Given the description of an element on the screen output the (x, y) to click on. 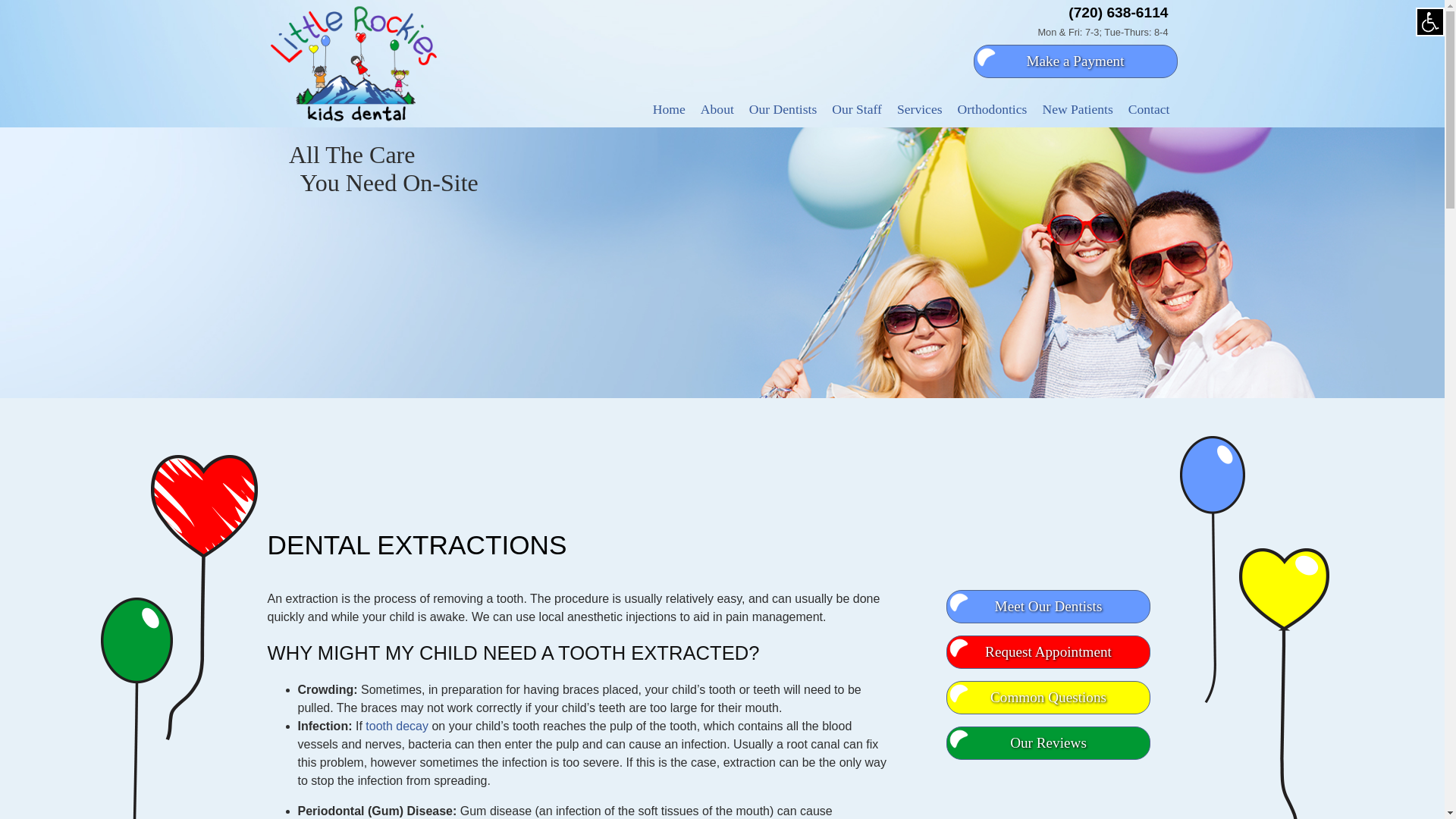
Make a Payment (1075, 61)
Contact (1149, 108)
Orthodontics (992, 108)
About (717, 108)
Home (669, 108)
Services (919, 108)
New Patients (1076, 108)
Our Dentists (782, 108)
Our Staff (856, 108)
